Given the description of an element on the screen output the (x, y) to click on. 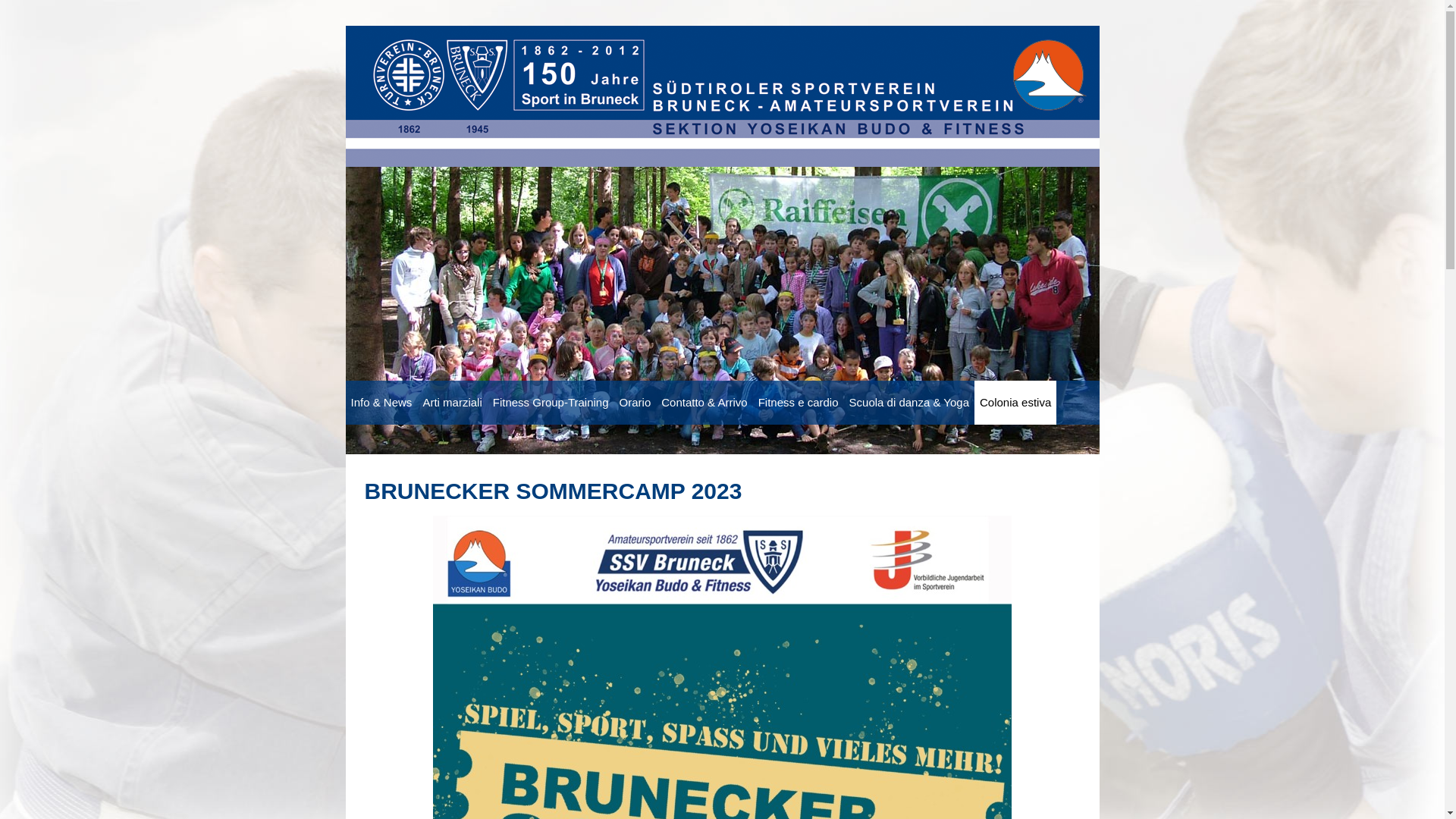
Orario Element type: text (635, 402)
Scuola di danza & Yoga Element type: text (909, 402)
Arti marziali Element type: text (451, 402)
Contatto & Arrivo Element type: text (703, 402)
Fitness Group-Training Element type: text (550, 402)
Info & News Element type: text (381, 402)
Colonia estiva Element type: text (1015, 402)
Fitness e cardio Element type: text (798, 402)
